Given the description of an element on the screen output the (x, y) to click on. 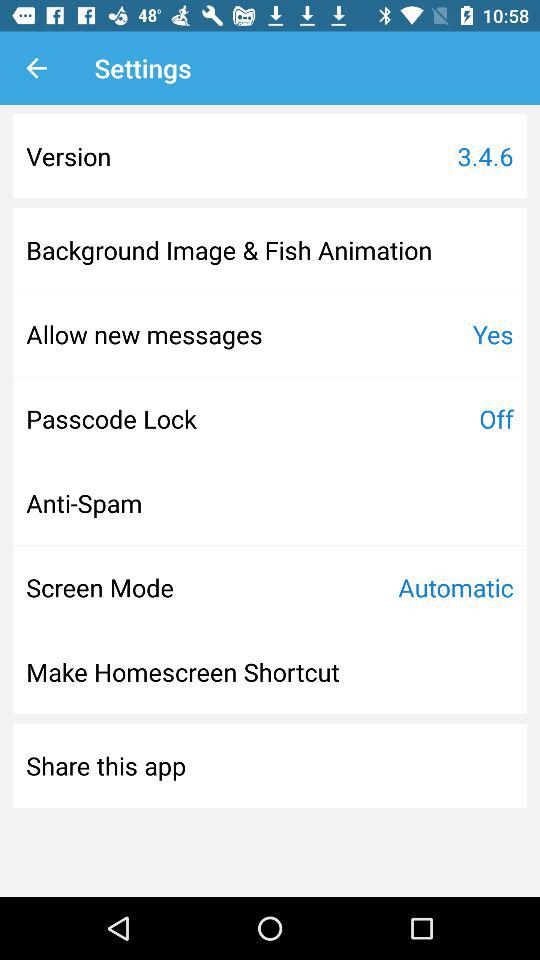
select off item (496, 418)
